Given the description of an element on the screen output the (x, y) to click on. 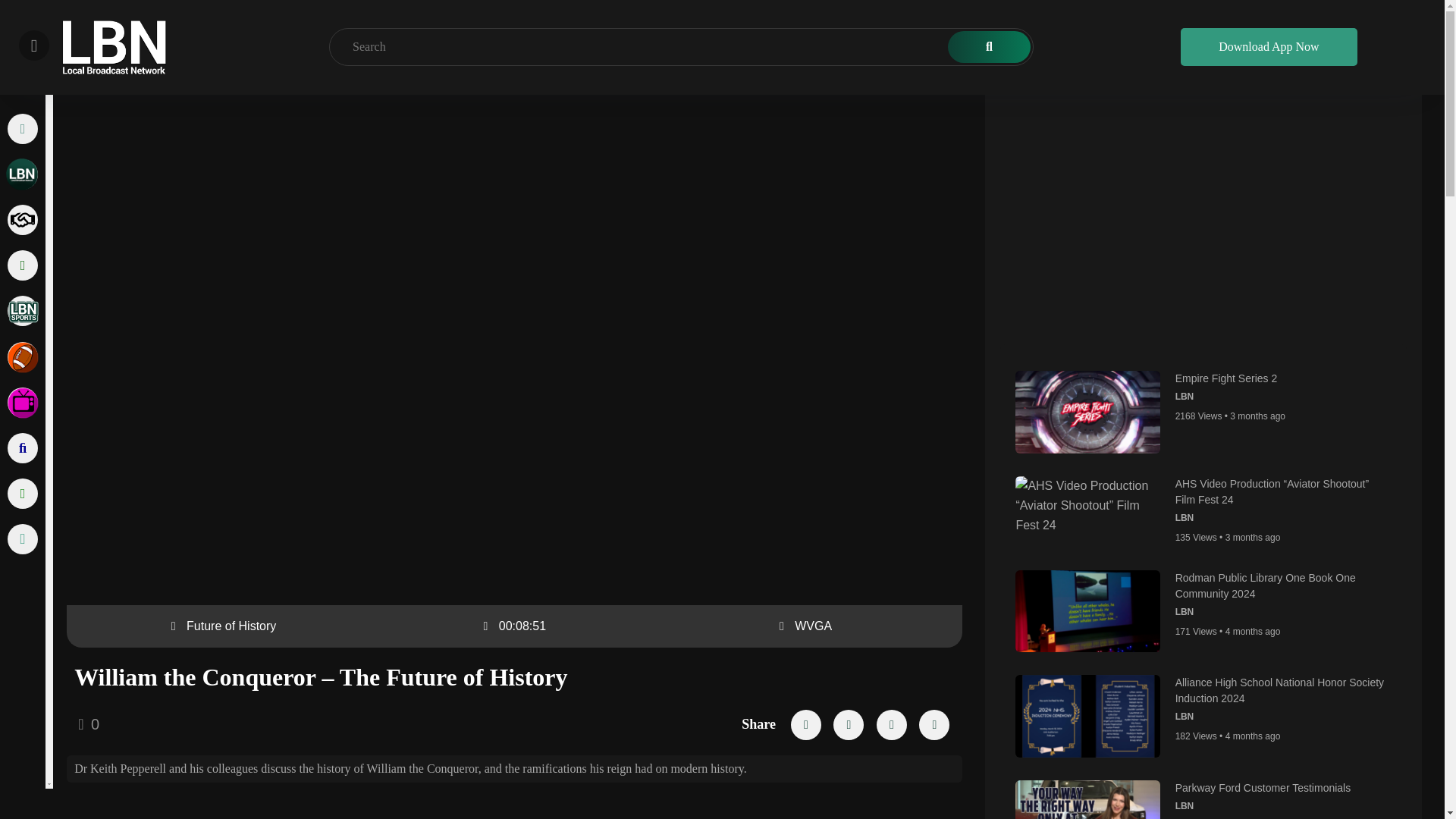
Advertise With Us (22, 265)
Download App Now (1268, 33)
0 (88, 725)
LBN Sports (22, 310)
Let's Work Together (22, 219)
Future of History (231, 625)
Home (22, 128)
Download App Now (1268, 34)
Games (22, 357)
Today On LBN (22, 173)
